Given the description of an element on the screen output the (x, y) to click on. 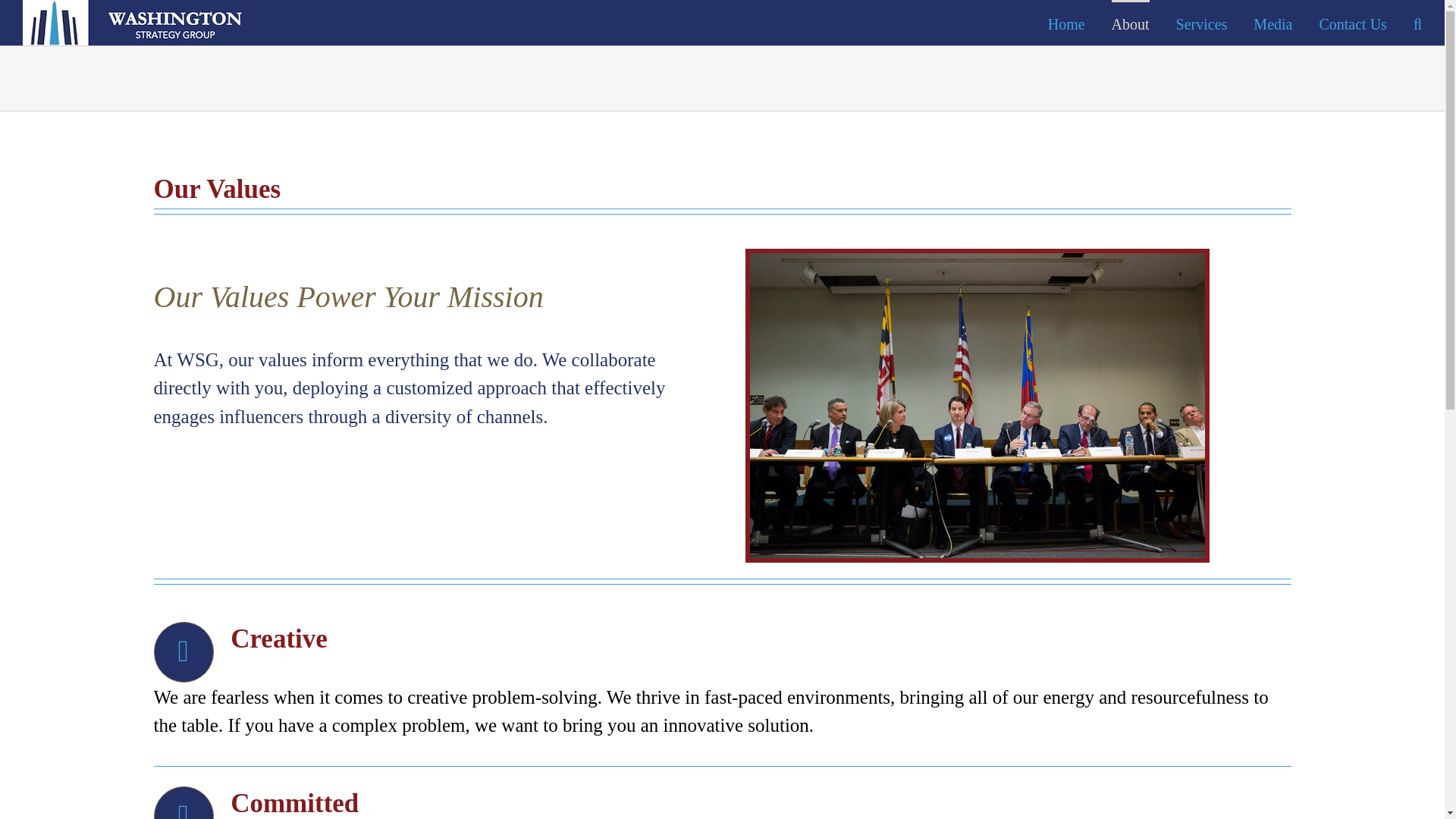
Services (1201, 22)
Contact Us (1352, 22)
